Given the description of an element on the screen output the (x, y) to click on. 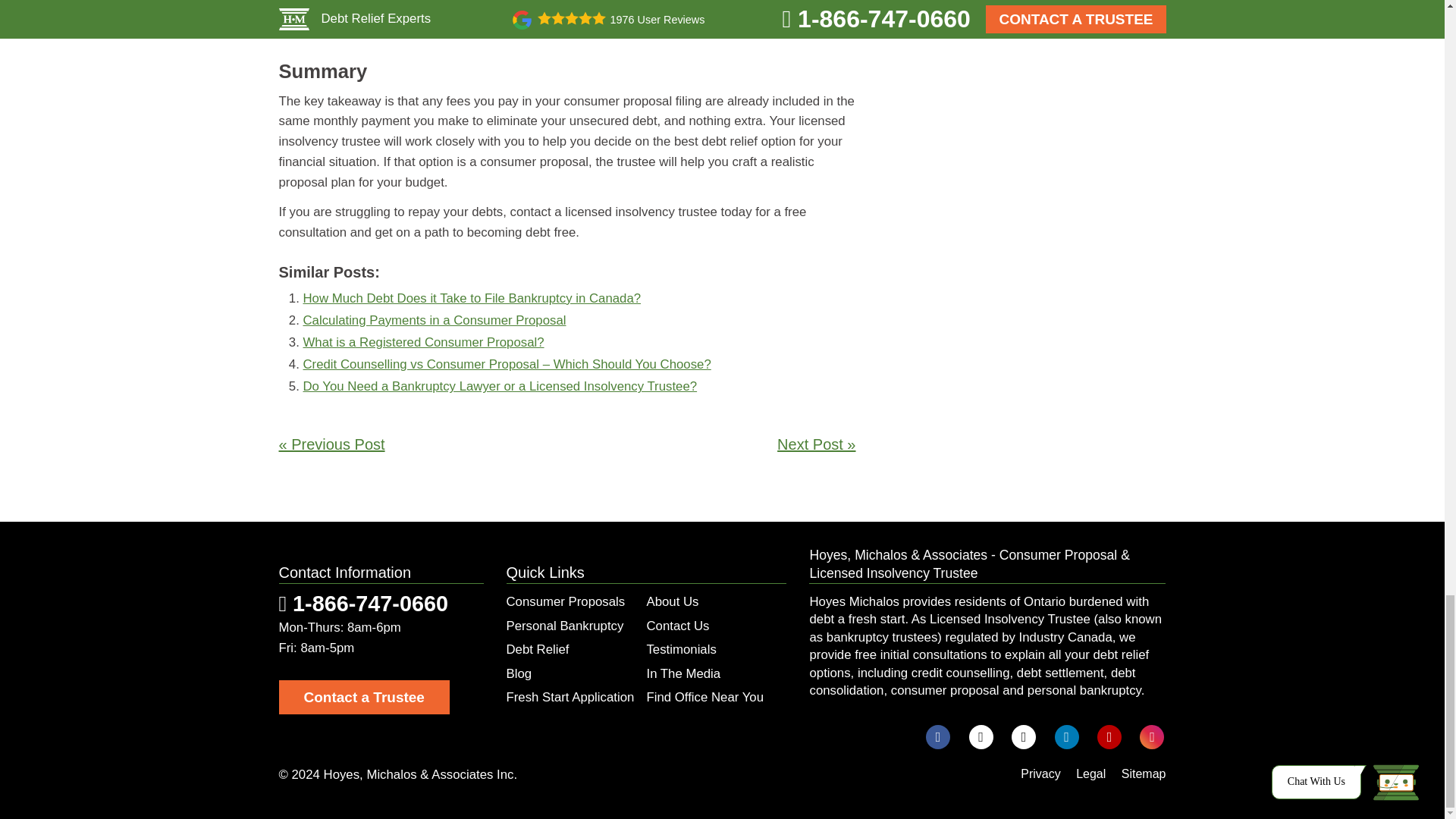
How Much Debt Does it Take to File Bankruptcy in Canada? (472, 298)
Visit our Facebook page (938, 736)
What is a Registered Consumer Proposal? (423, 341)
Calculating Payments in a Consumer Proposal (434, 319)
